Given the description of an element on the screen output the (x, y) to click on. 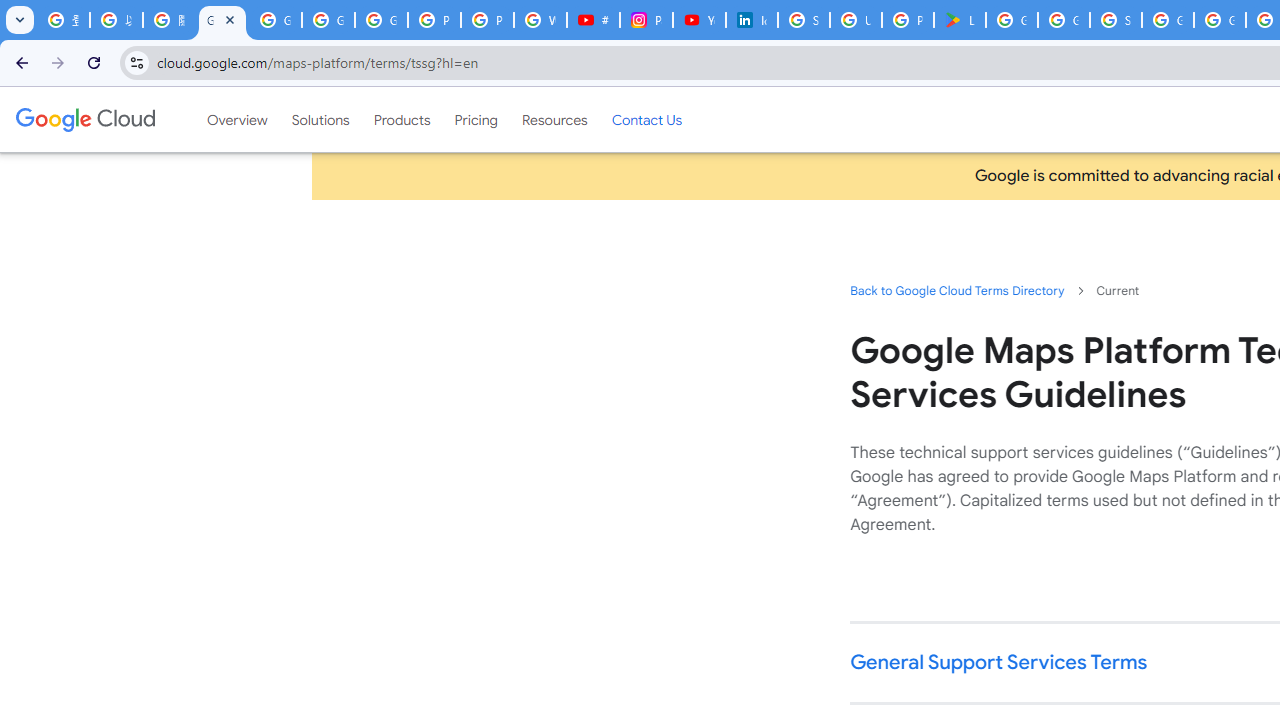
Solutions (320, 119)
Products (401, 119)
Last Shelter: Survival - Apps on Google Play (959, 20)
